Given the description of an element on the screen output the (x, y) to click on. 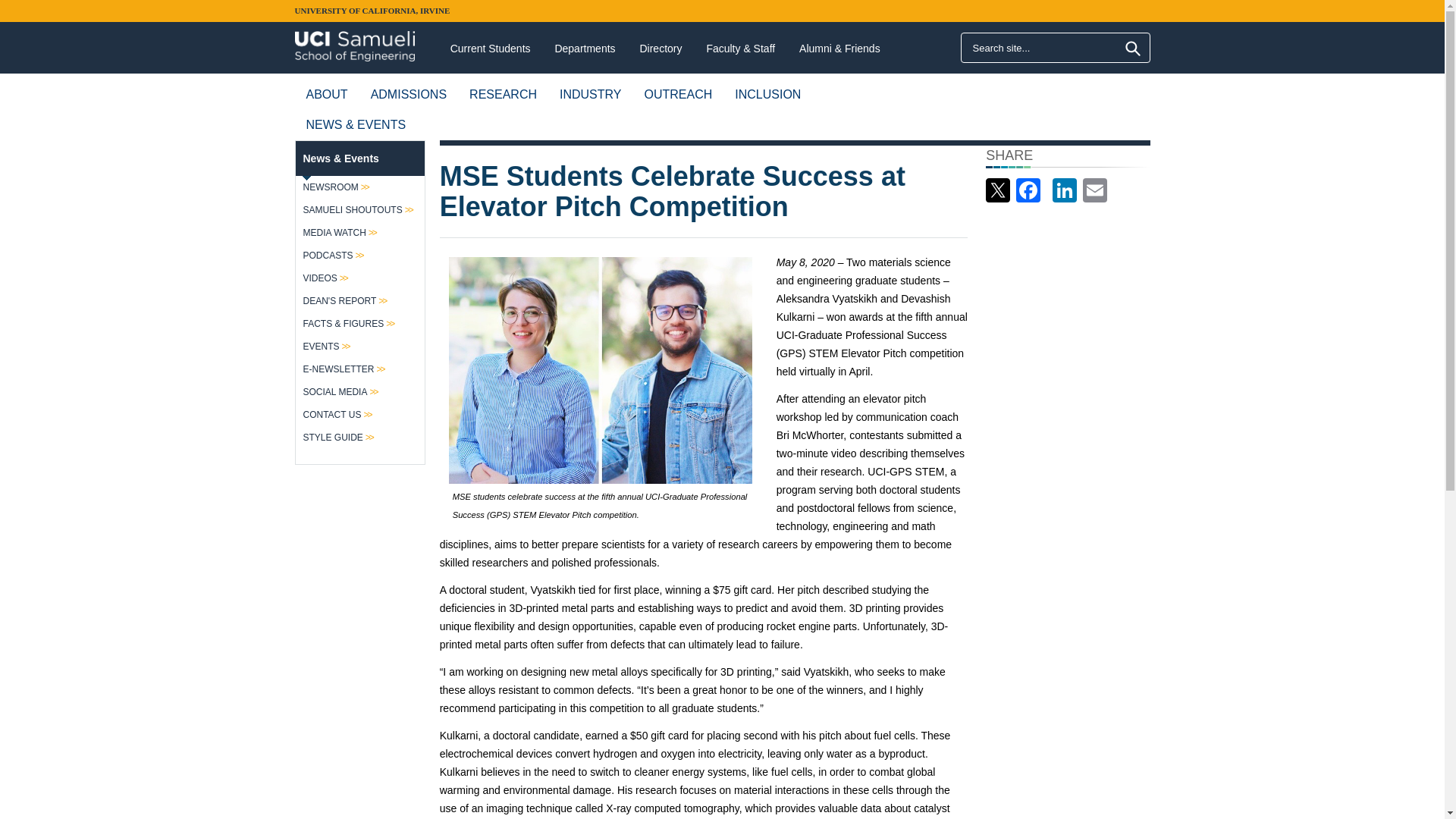
Search (1133, 48)
UNIVERSITY OF CALIFORNIA, IRVINE (371, 10)
Departments (584, 48)
Current Students (490, 48)
Enter the terms you wish to search for. (1054, 47)
Search (1133, 48)
Home (354, 40)
